Given the description of an element on the screen output the (x, y) to click on. 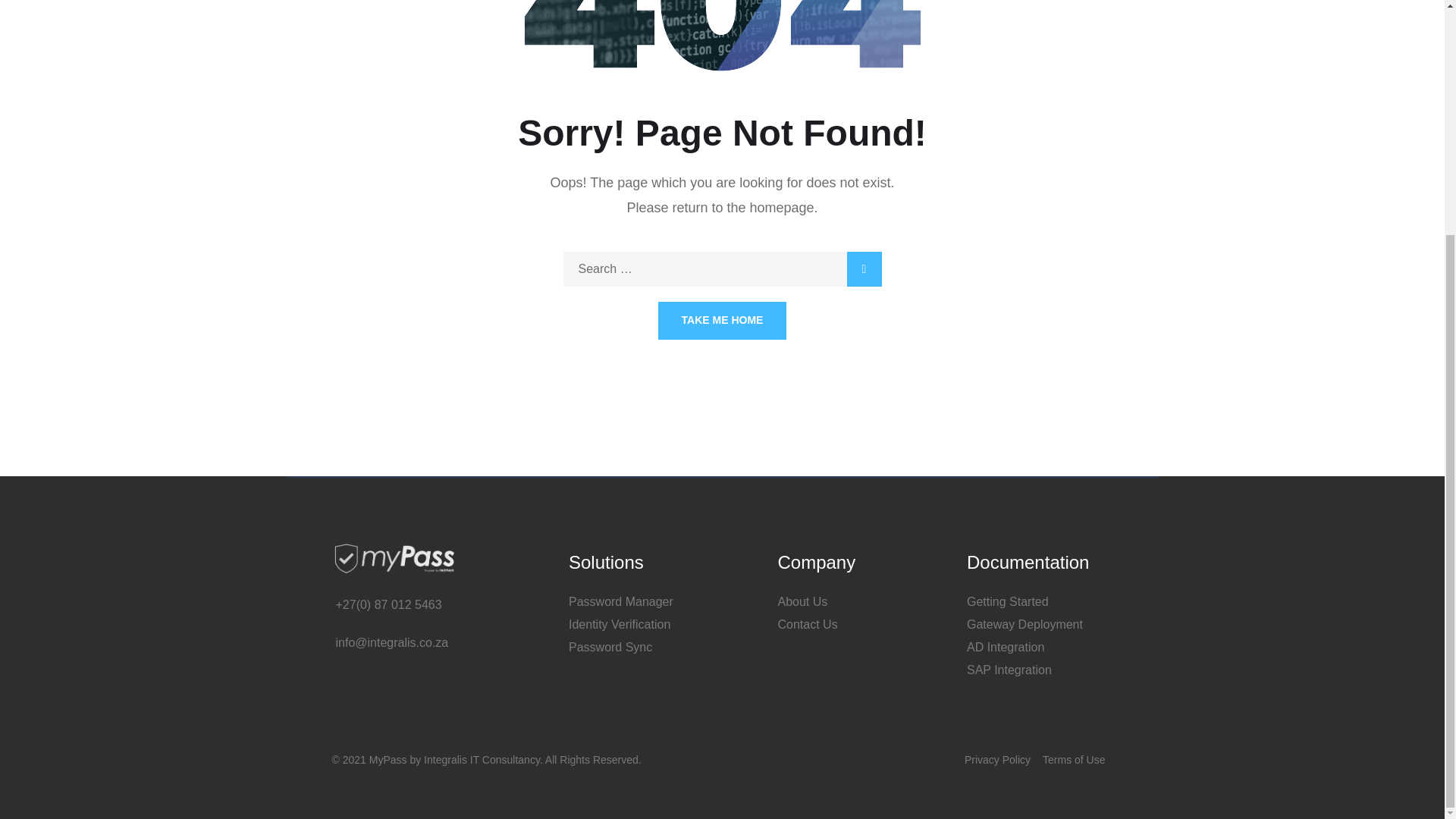
Contact Us (853, 624)
Getting Started (1056, 601)
Terms of Use (1073, 759)
SAP Integration (1056, 670)
Gateway Deployment (1056, 624)
AD Integration (1056, 647)
TAKE ME HOME (722, 320)
Privacy Policy (996, 759)
Password Manager (640, 601)
Password Sync (640, 647)
Identity Verification (640, 624)
About Us (853, 601)
